Given the description of an element on the screen output the (x, y) to click on. 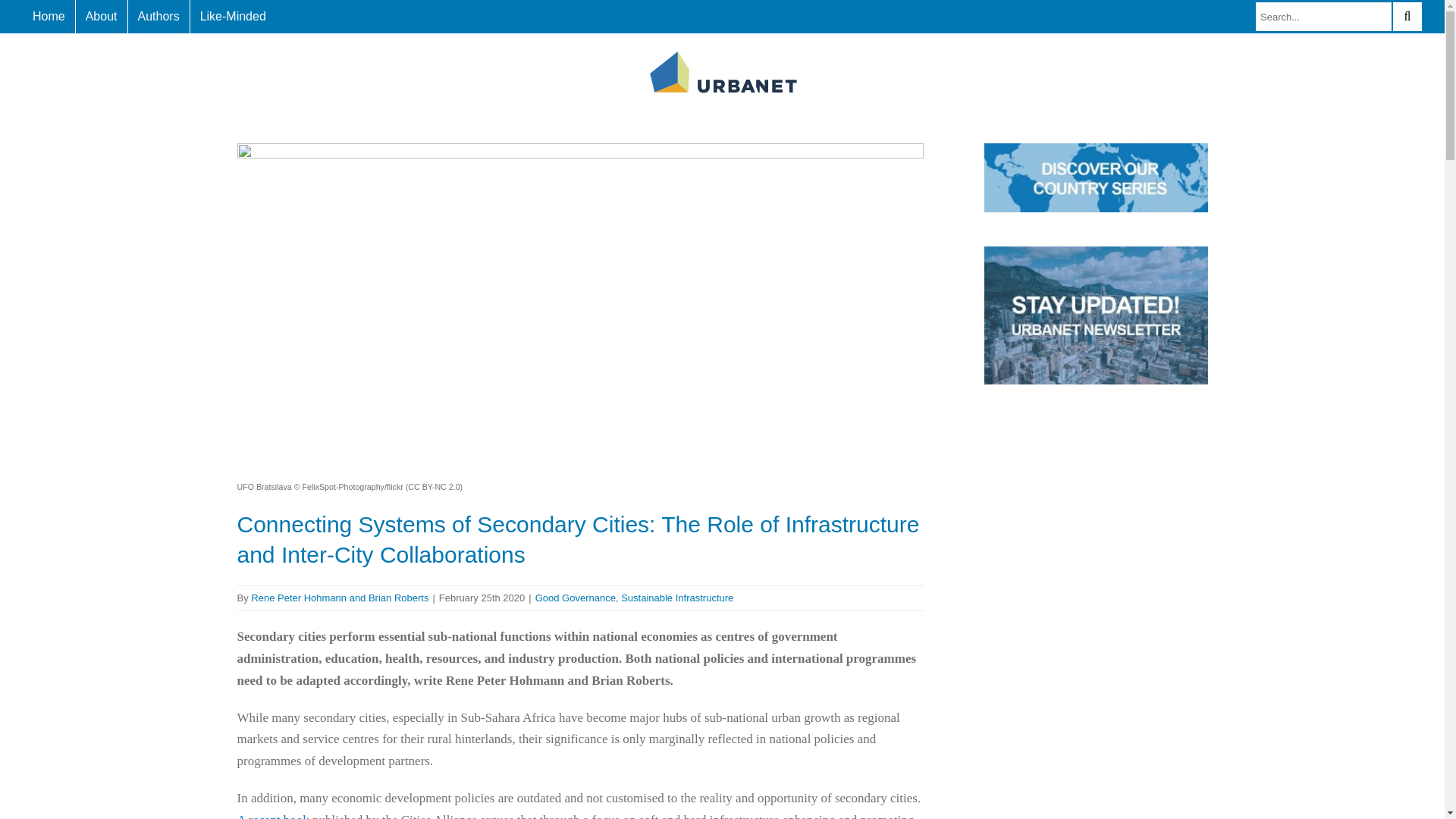
Like-Minded (233, 16)
Authors (158, 16)
About (101, 16)
Home (49, 16)
Posts by Rene Peter Hohmann and Brian Roberts (339, 597)
